Given the description of an element on the screen output the (x, y) to click on. 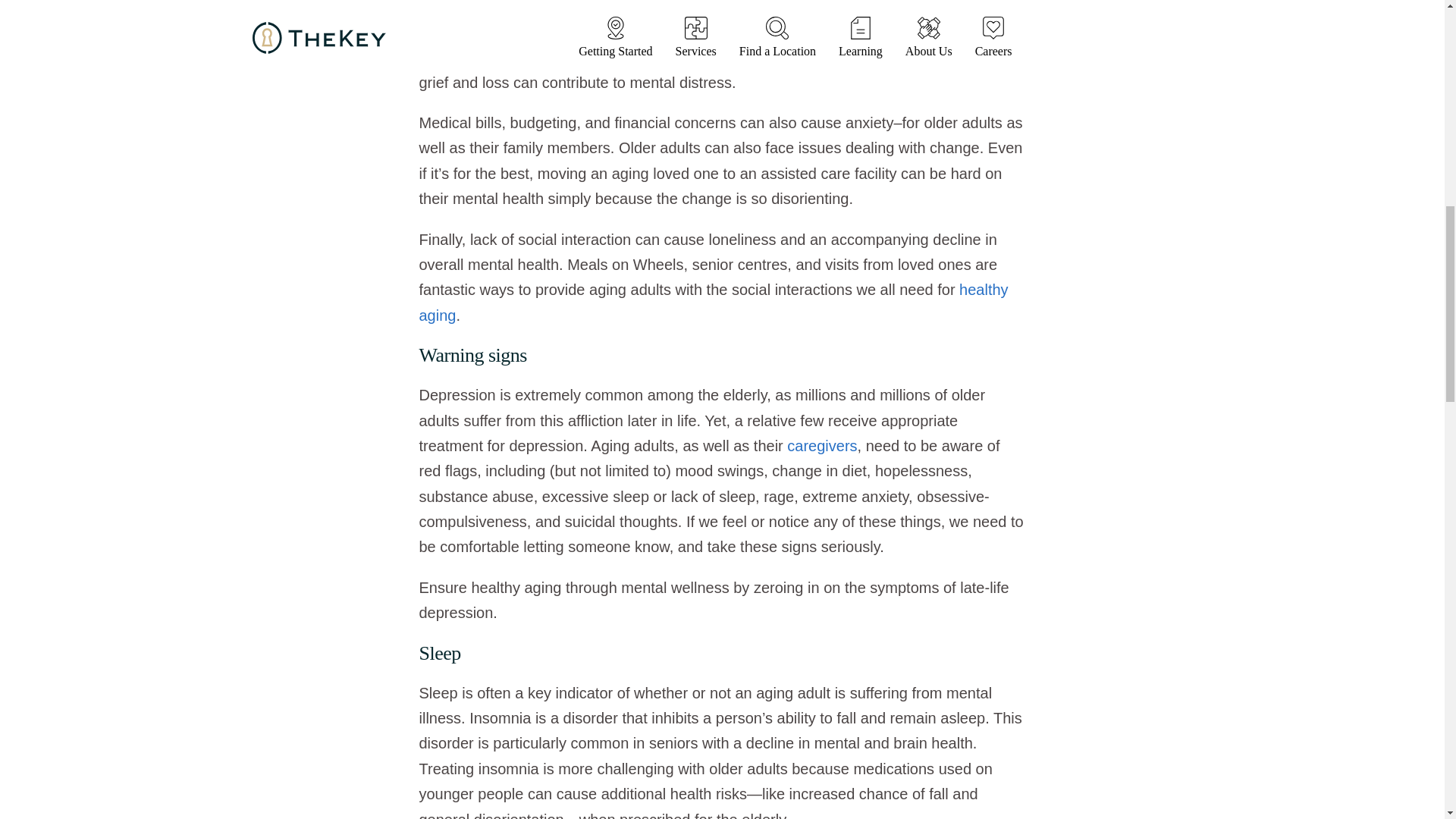
caregivers (822, 445)
healthy aging (713, 301)
